Given the description of an element on the screen output the (x, y) to click on. 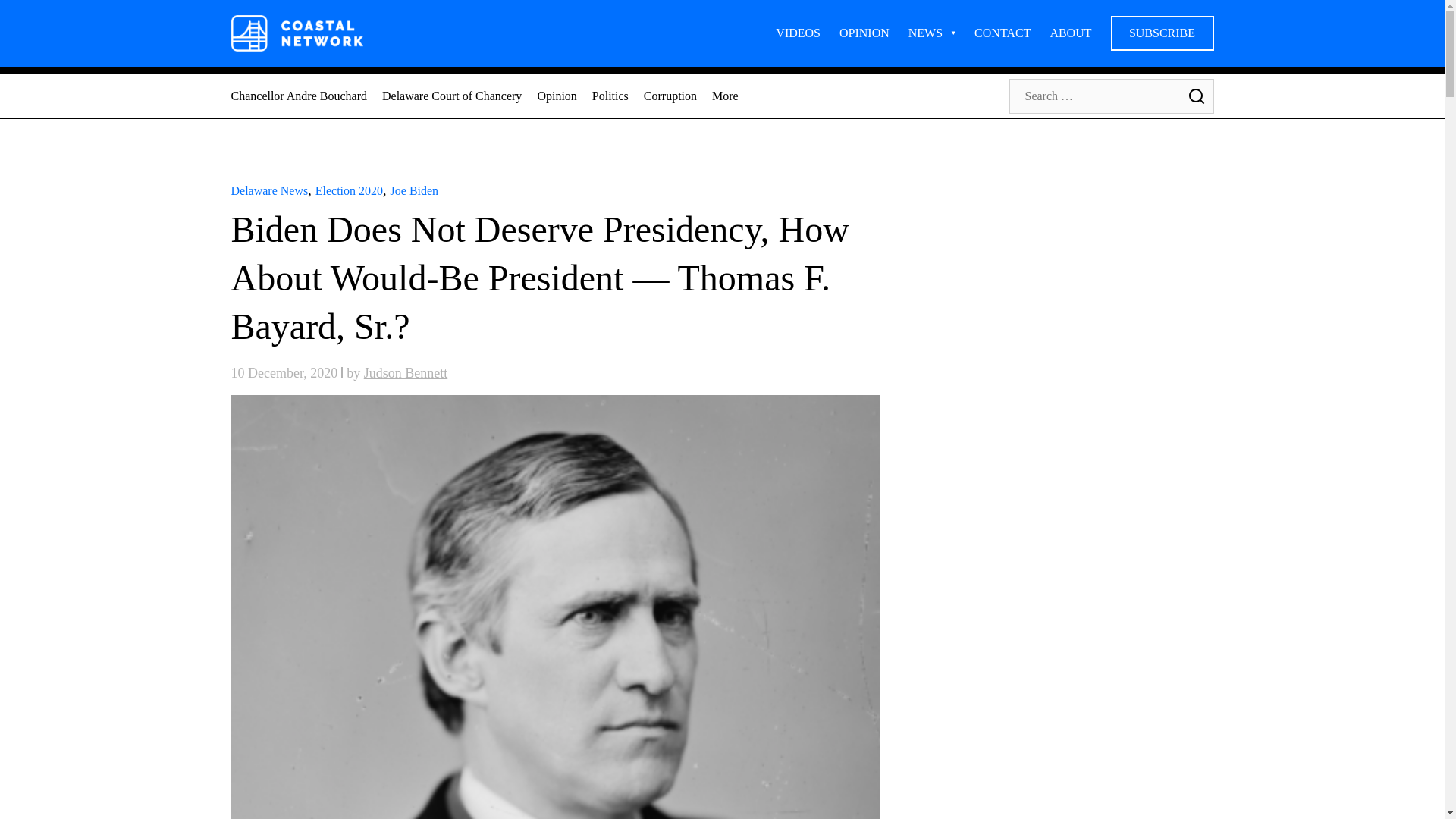
Search (1194, 95)
Delaware News (268, 190)
Search (1194, 95)
Corruption (670, 95)
Judson Bennett (406, 372)
SUBSCRIBE (1160, 32)
ABOUT (1069, 32)
Opinion (556, 95)
Chancellor Andre Bouchard (298, 95)
Search (1194, 95)
